Given the description of an element on the screen output the (x, y) to click on. 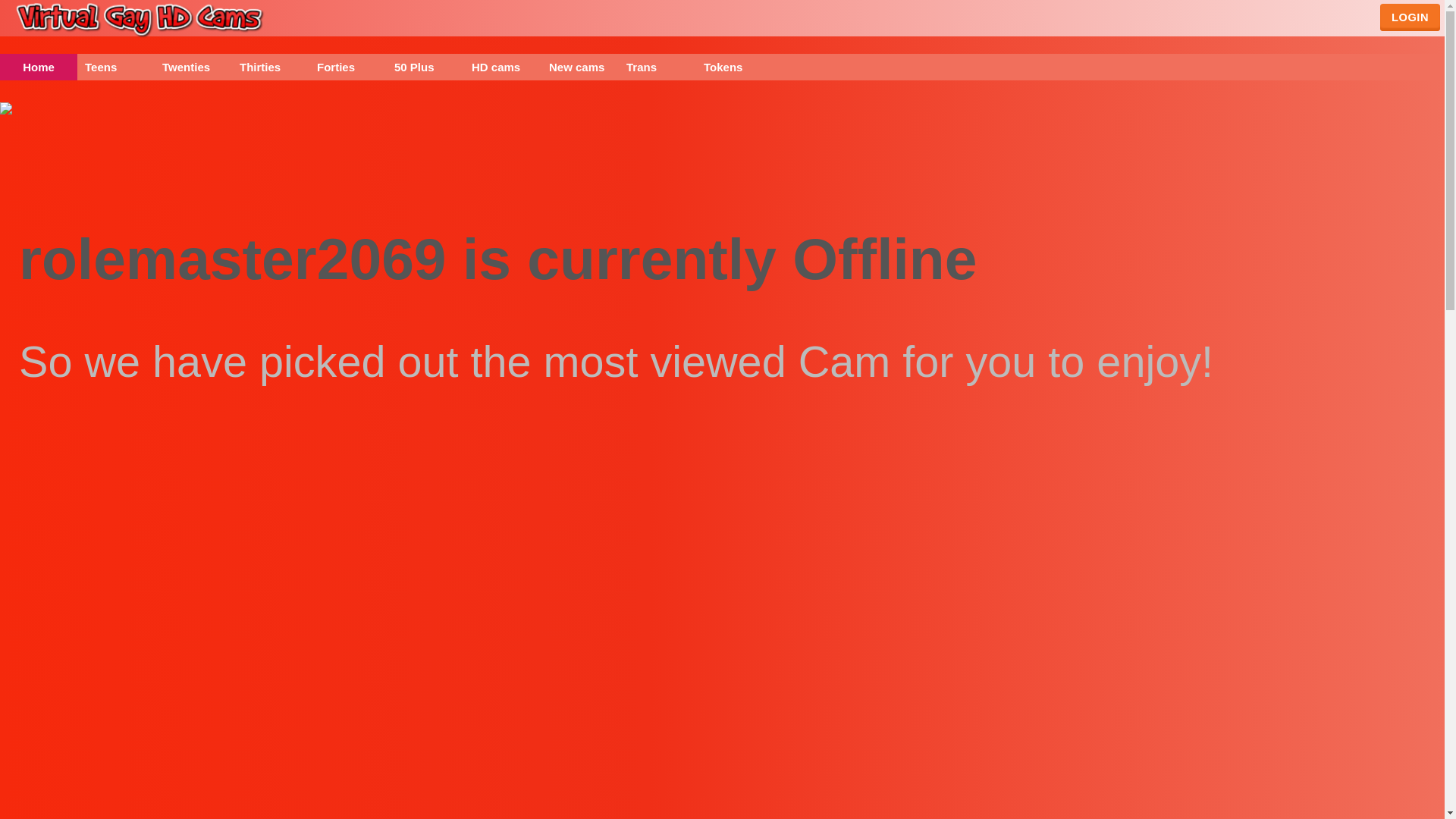
Login (1409, 17)
Thirties (269, 67)
Forties (347, 67)
Forties (347, 67)
New cams (579, 67)
HD cams (502, 67)
Twenties (192, 67)
Teens (115, 67)
Thirties (269, 67)
HD cams (502, 67)
